Given the description of an element on the screen output the (x, y) to click on. 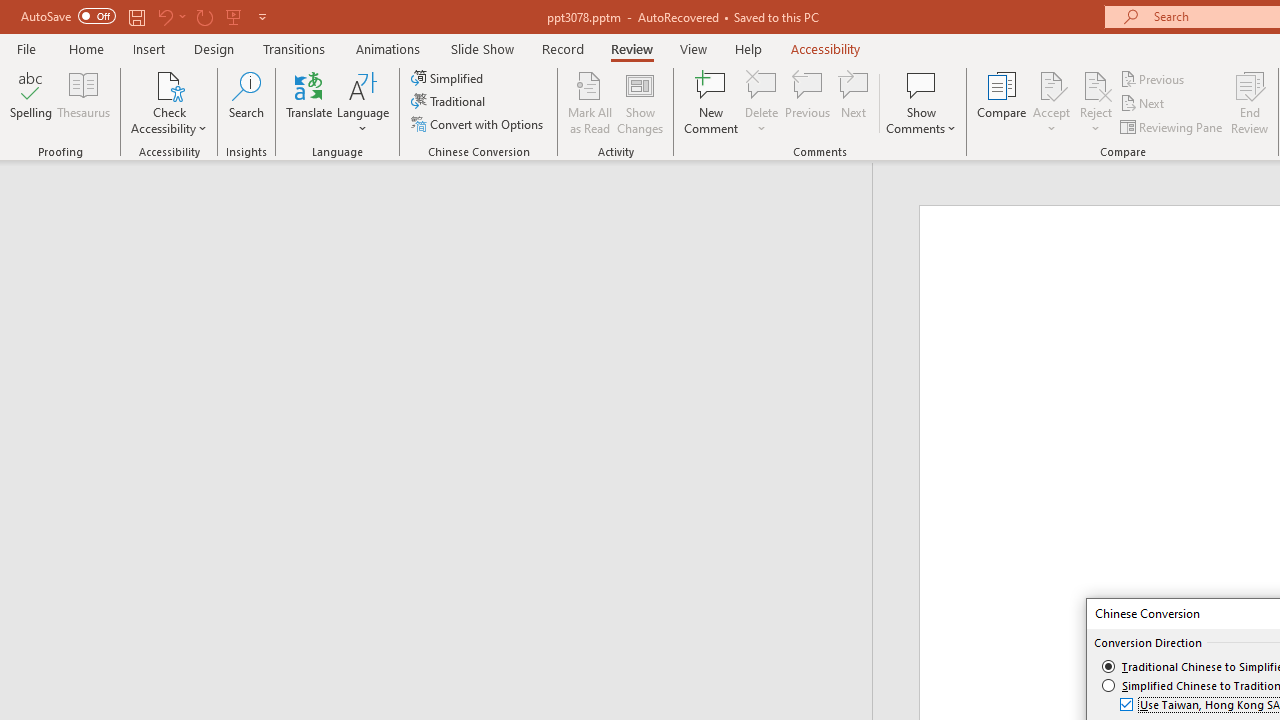
New Comment (711, 102)
Reject (1096, 102)
Show Comments (921, 102)
Reject Change (1096, 84)
Previous (1153, 78)
End Review (1249, 102)
Thesaurus... (83, 102)
Accept Change (1051, 84)
